Given the description of an element on the screen output the (x, y) to click on. 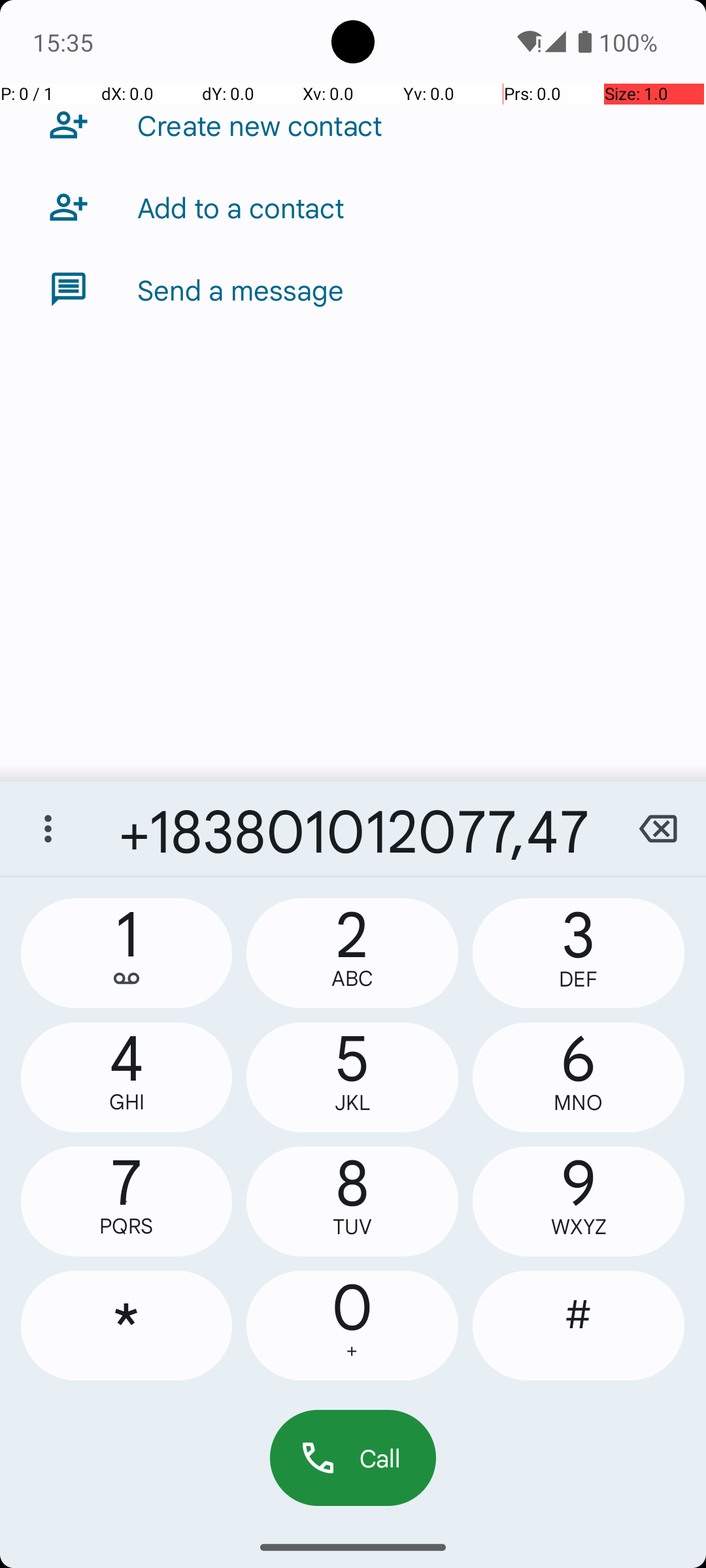
+183801012077,47 Element type: android.widget.EditText (352, 828)
Add to a contact Element type: android.widget.TextView (240, 206)
Send a message Element type: android.widget.TextView (240, 289)
